Given the description of an element on the screen output the (x, y) to click on. 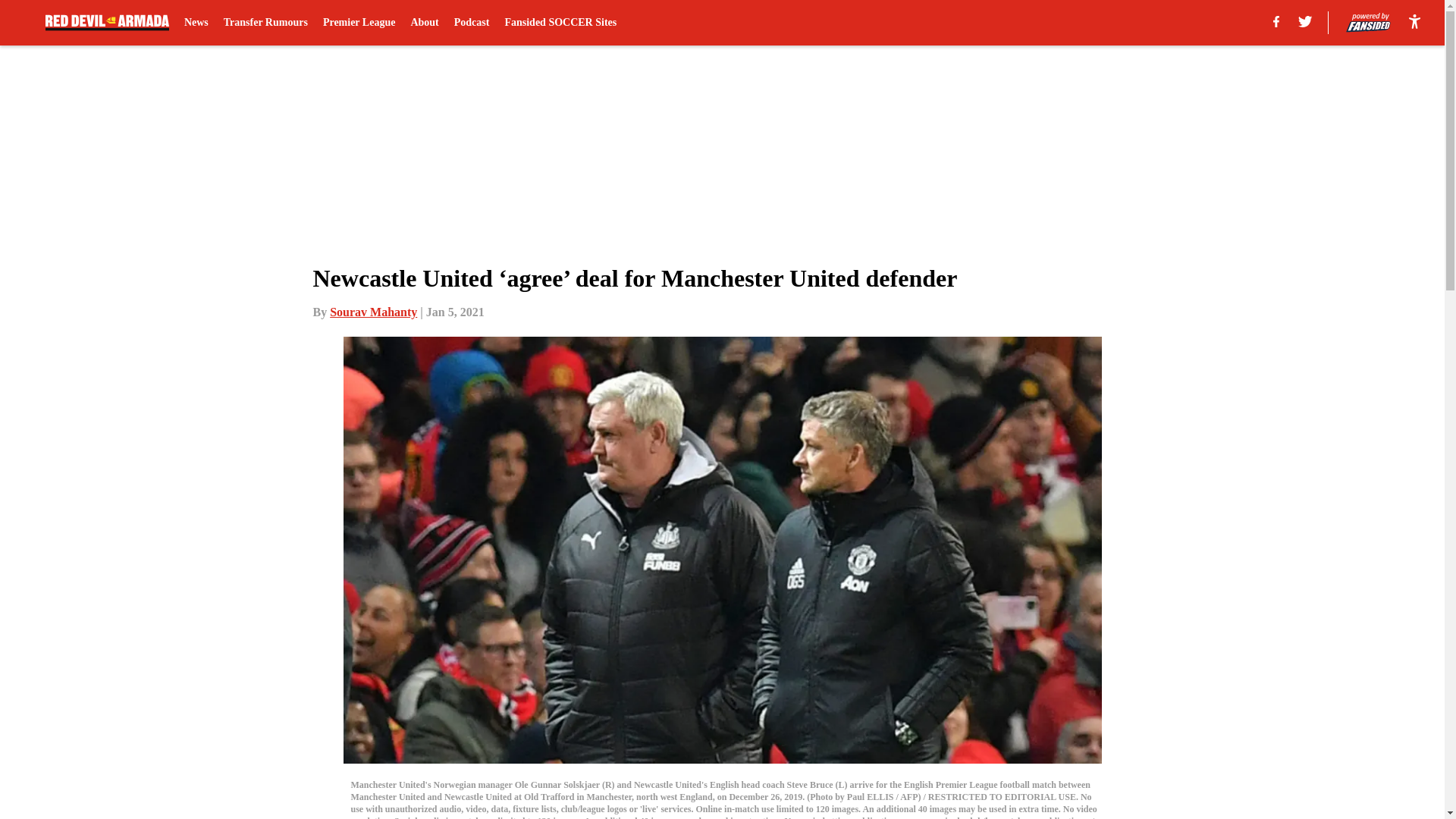
Premier League (359, 22)
Podcast (471, 22)
Transfer Rumours (265, 22)
News (196, 22)
Fansided SOCCER Sites (559, 22)
About (424, 22)
Sourav Mahanty (373, 311)
